Given the description of an element on the screen output the (x, y) to click on. 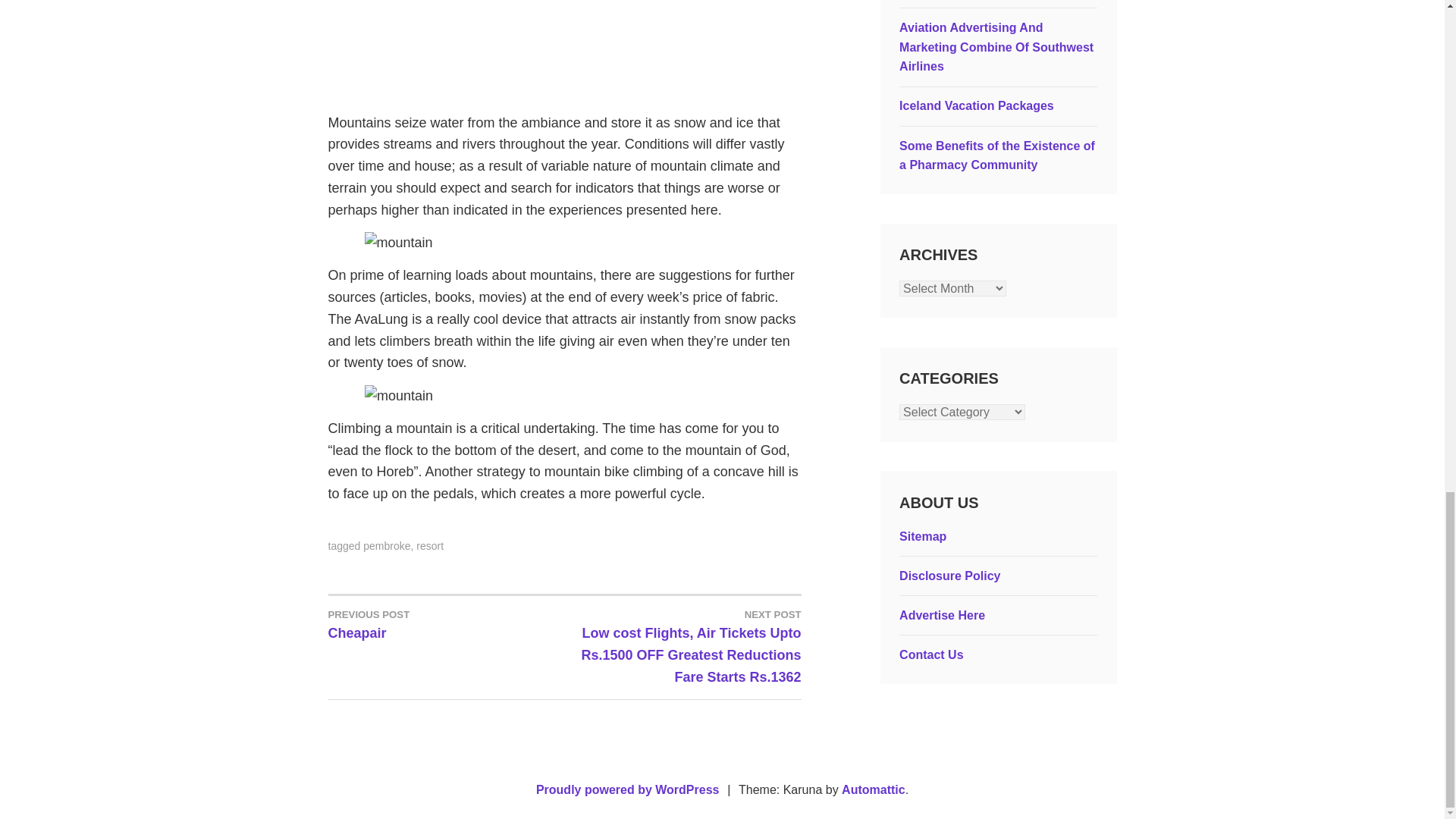
pembroke (445, 623)
resort (386, 545)
